Given the description of an element on the screen output the (x, y) to click on. 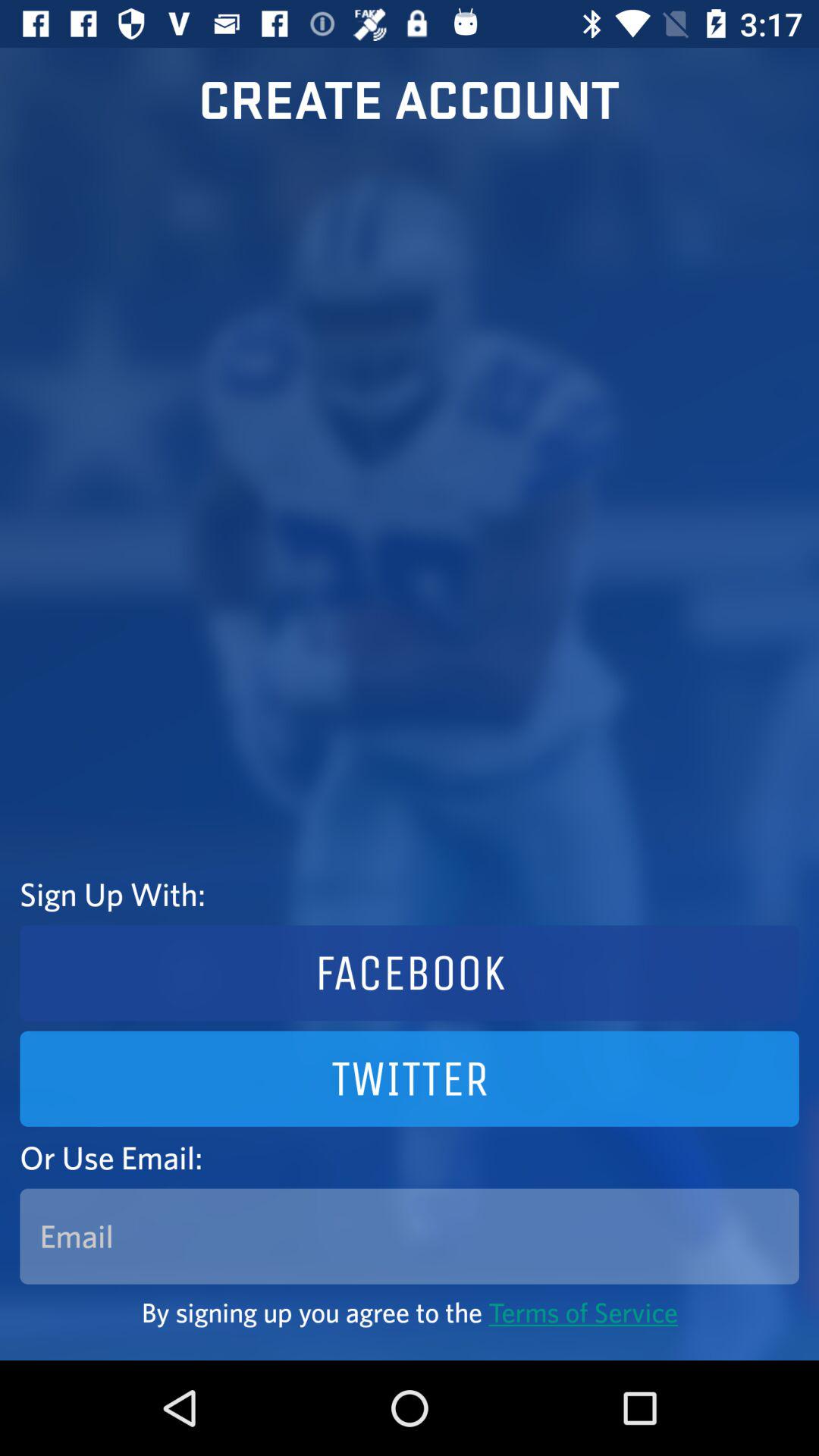
scroll until twitter icon (409, 1078)
